Given the description of an element on the screen output the (x, y) to click on. 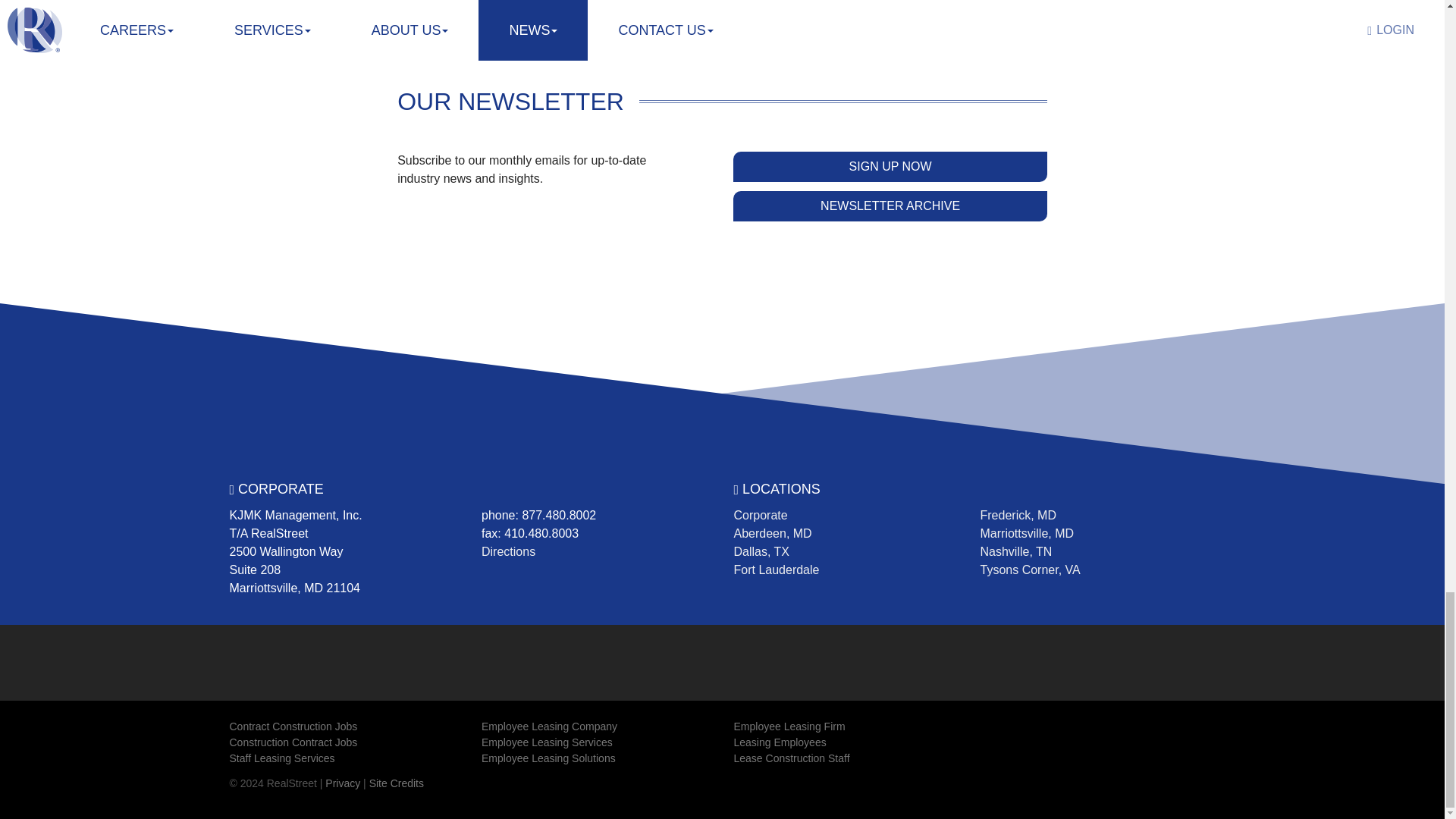
Our Blog RSS Feed (603, 654)
KJMK Management (300, 660)
Like us on Facebook (494, 654)
Follow us on Twitter (522, 654)
Certified Women's Business Enterprise (777, 661)
Connect with us on LinkedIn (549, 654)
